Given the description of an element on the screen output the (x, y) to click on. 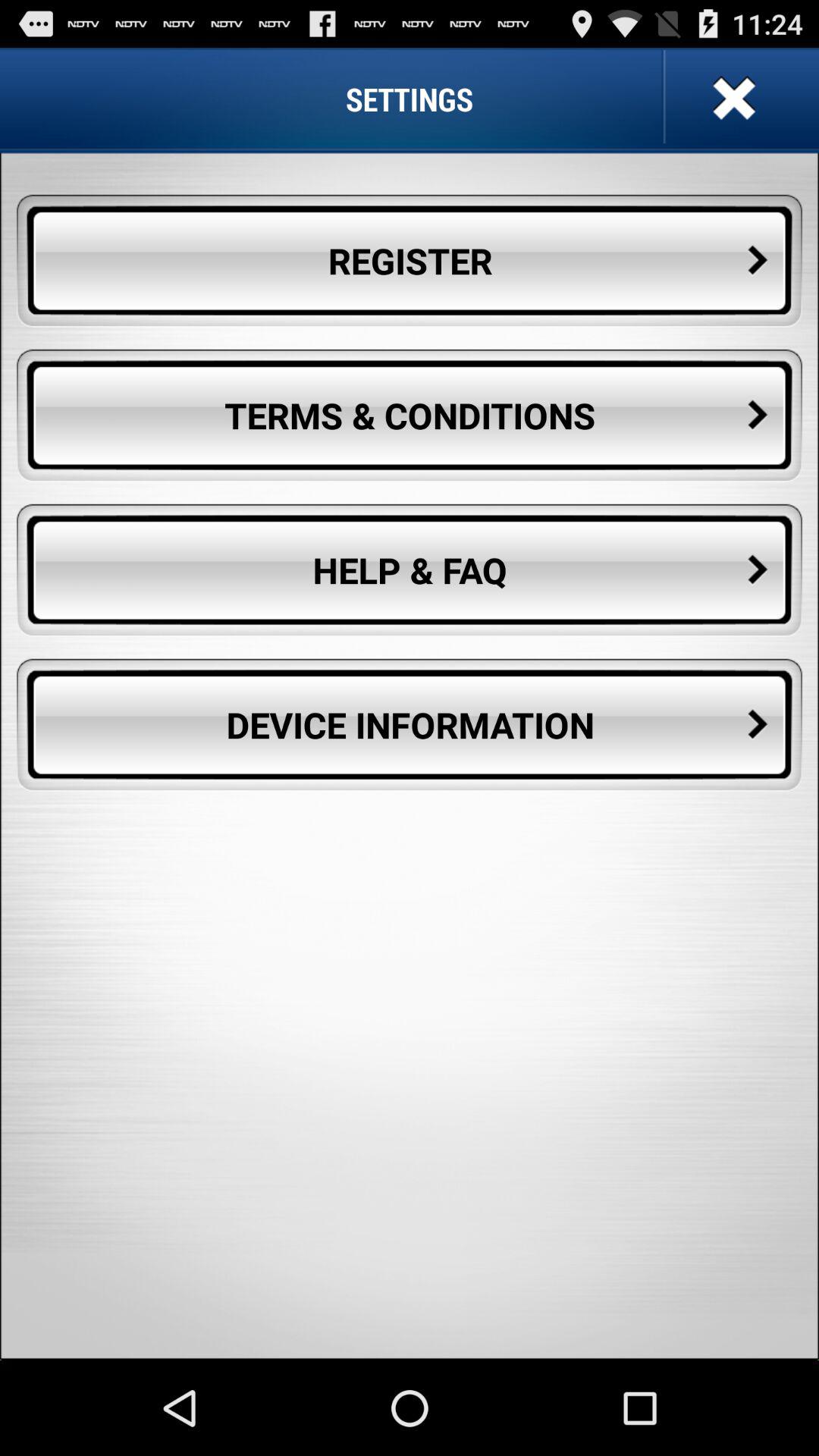
open the item to the right of settings item (732, 99)
